Given the description of an element on the screen output the (x, y) to click on. 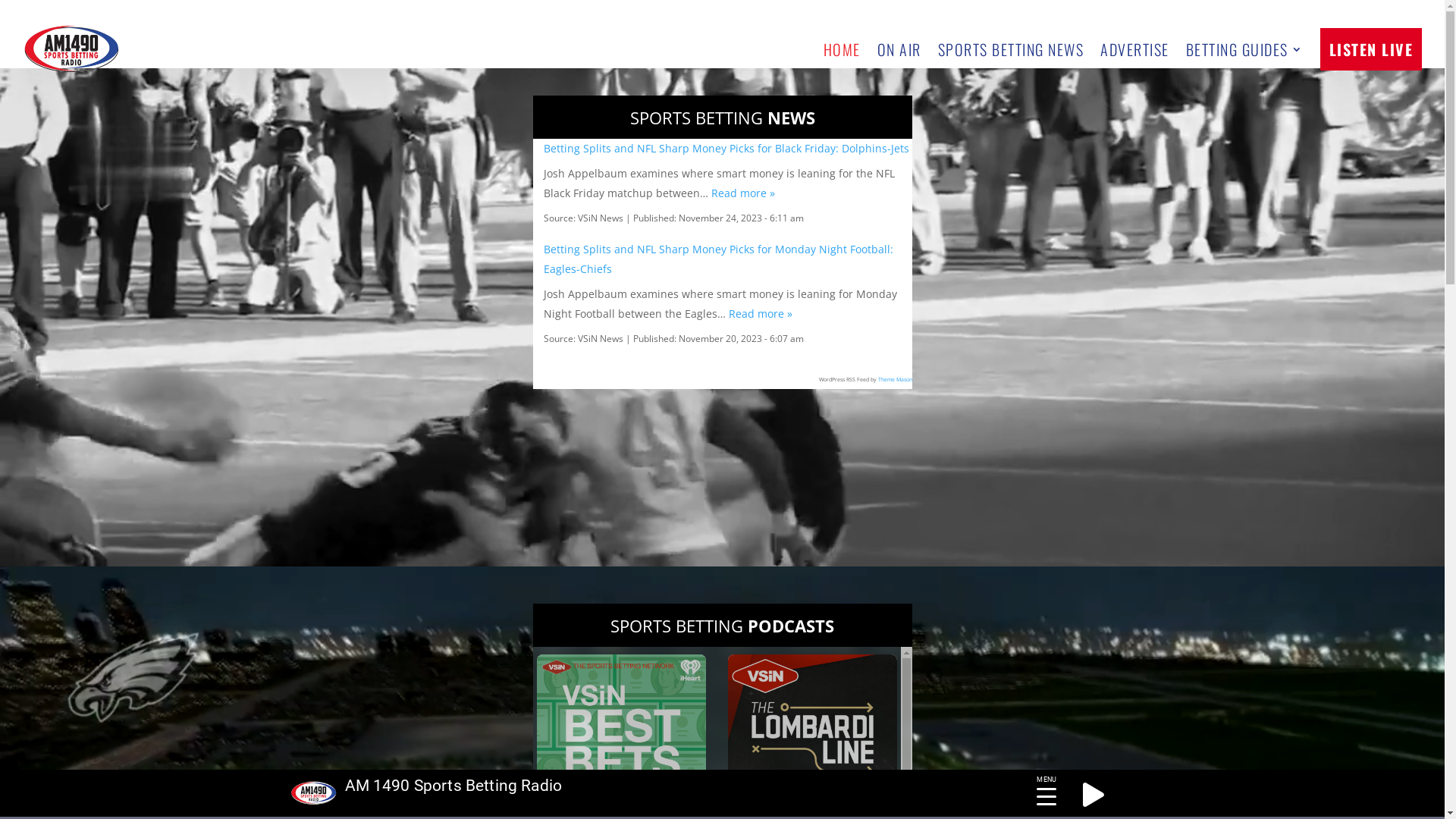
ON AIR Element type: text (898, 49)
SPORTS BETTING NEWS Element type: text (1010, 49)
Theme Mason Element type: text (895, 379)
BETTING GUIDES Element type: text (1244, 49)
HOME Element type: text (841, 49)
ADVERTISE Element type: text (1134, 49)
LISTEN LIVE Element type: text (1370, 49)
LISTEN LIVE Element type: text (1370, 49)
